Given the description of an element on the screen output the (x, y) to click on. 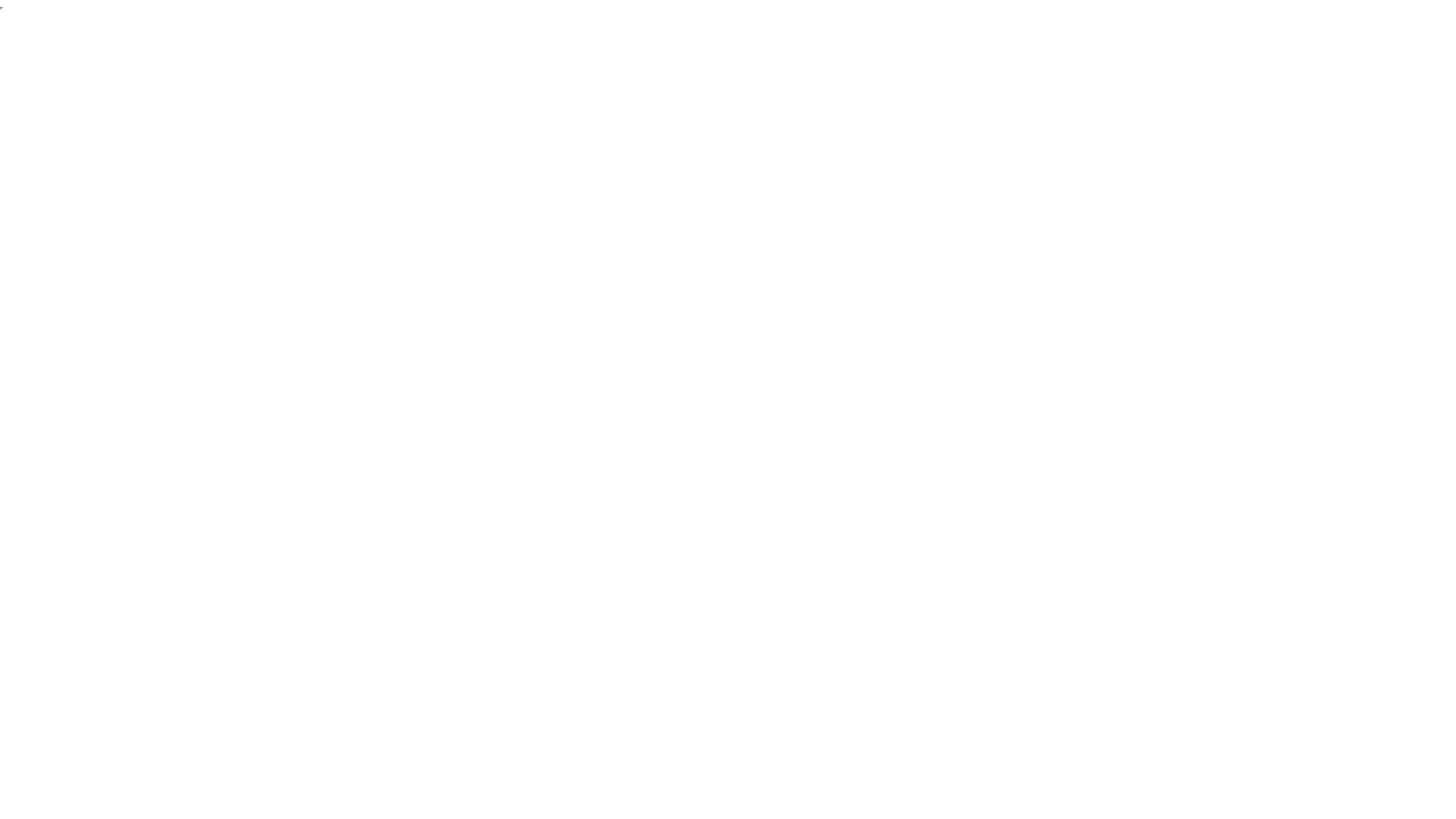
Consentement Dropbox Element type: hover (1, 7)
